Given the description of an element on the screen output the (x, y) to click on. 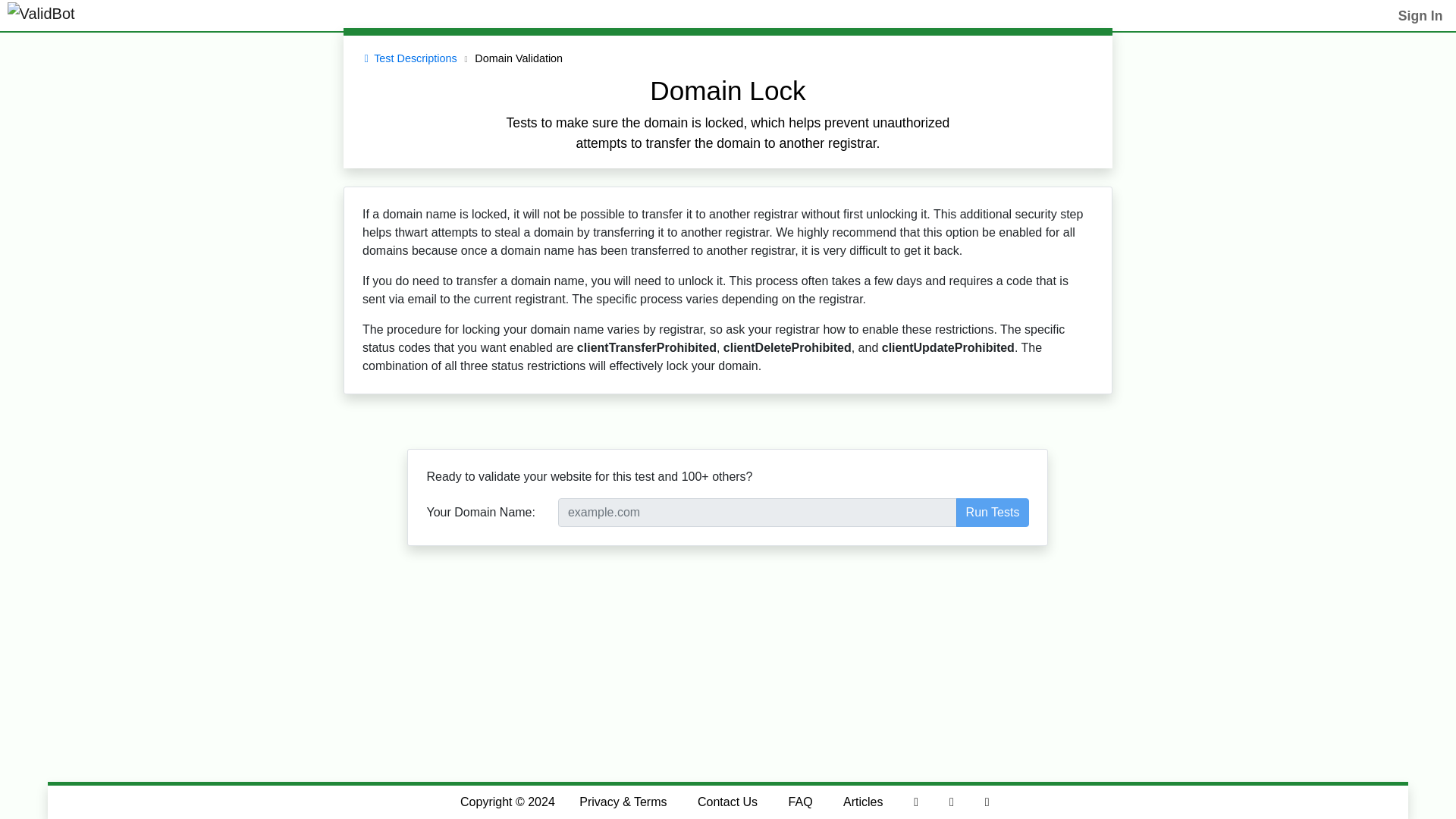
Test Descriptions (407, 58)
Run Tests (992, 512)
Sign In (1419, 15)
